Given the description of an element on the screen output the (x, y) to click on. 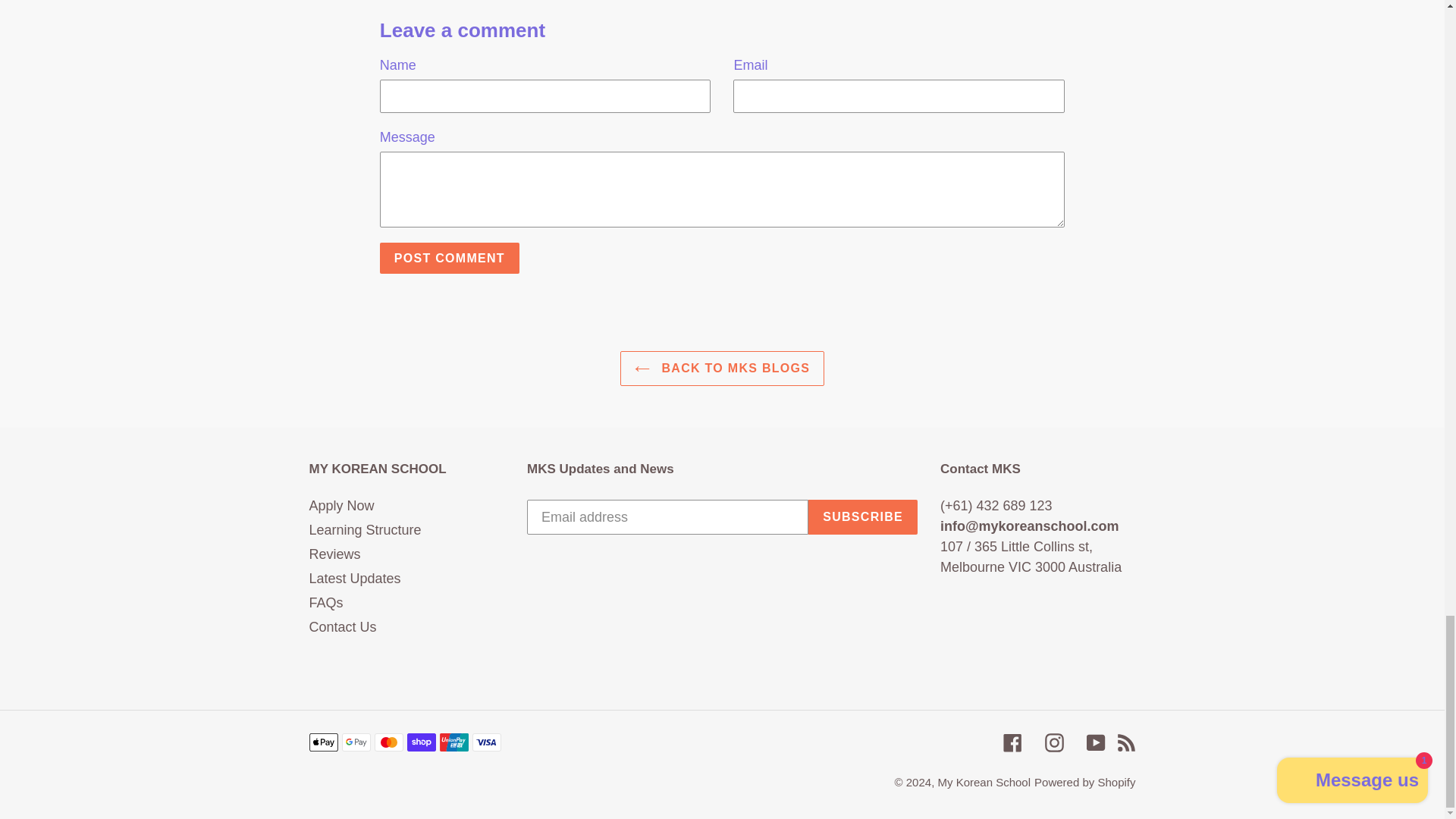
Post comment (449, 257)
